Given the description of an element on the screen output the (x, y) to click on. 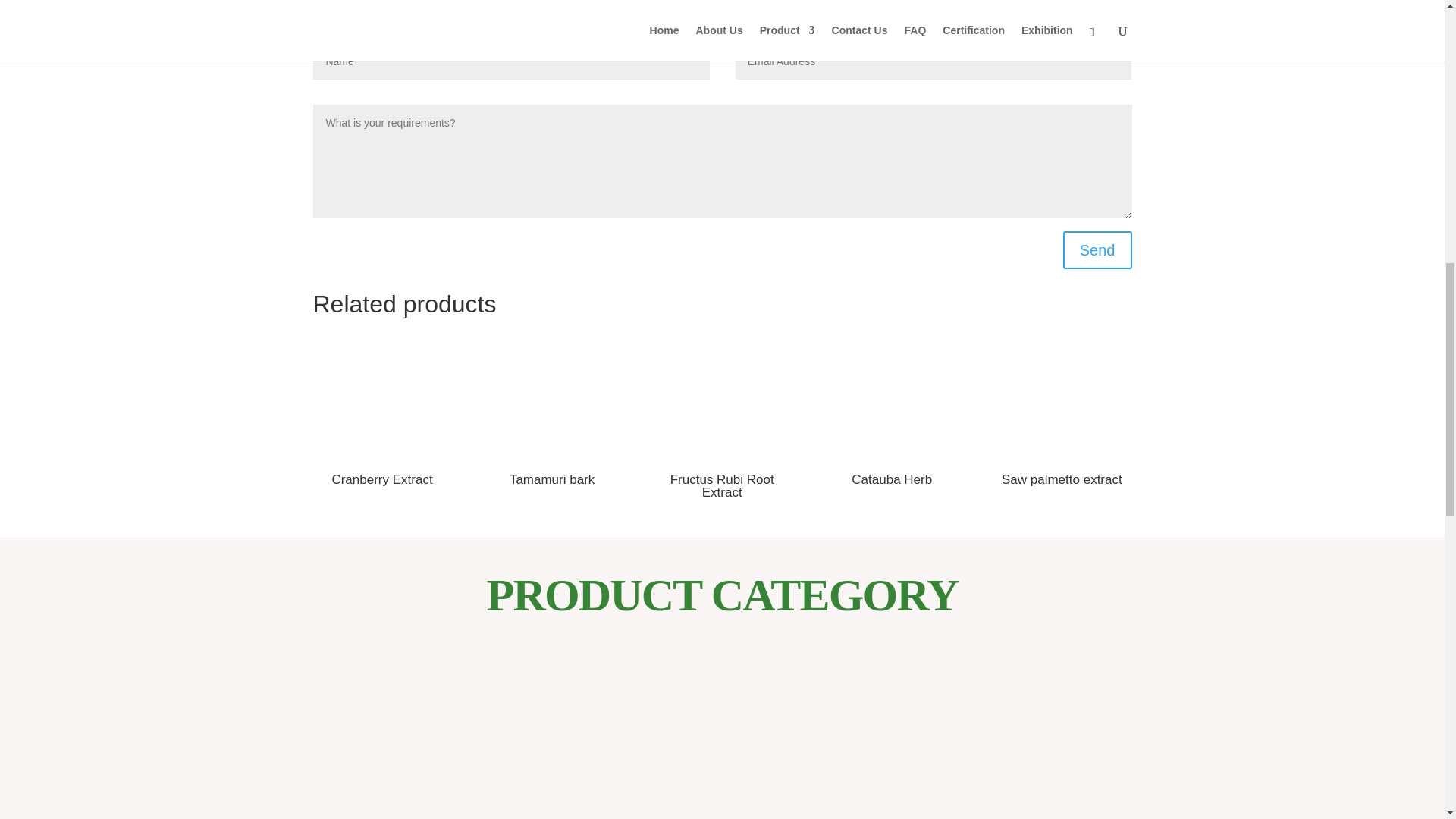
Pharmaceutical Materials (311, 744)
Formulas Series (1145, 744)
Send (1097, 249)
Food (812, 744)
Cosmetic Materials (478, 744)
Chemicals Materials (978, 744)
Herbal (645, 744)
